Given the description of an element on the screen output the (x, y) to click on. 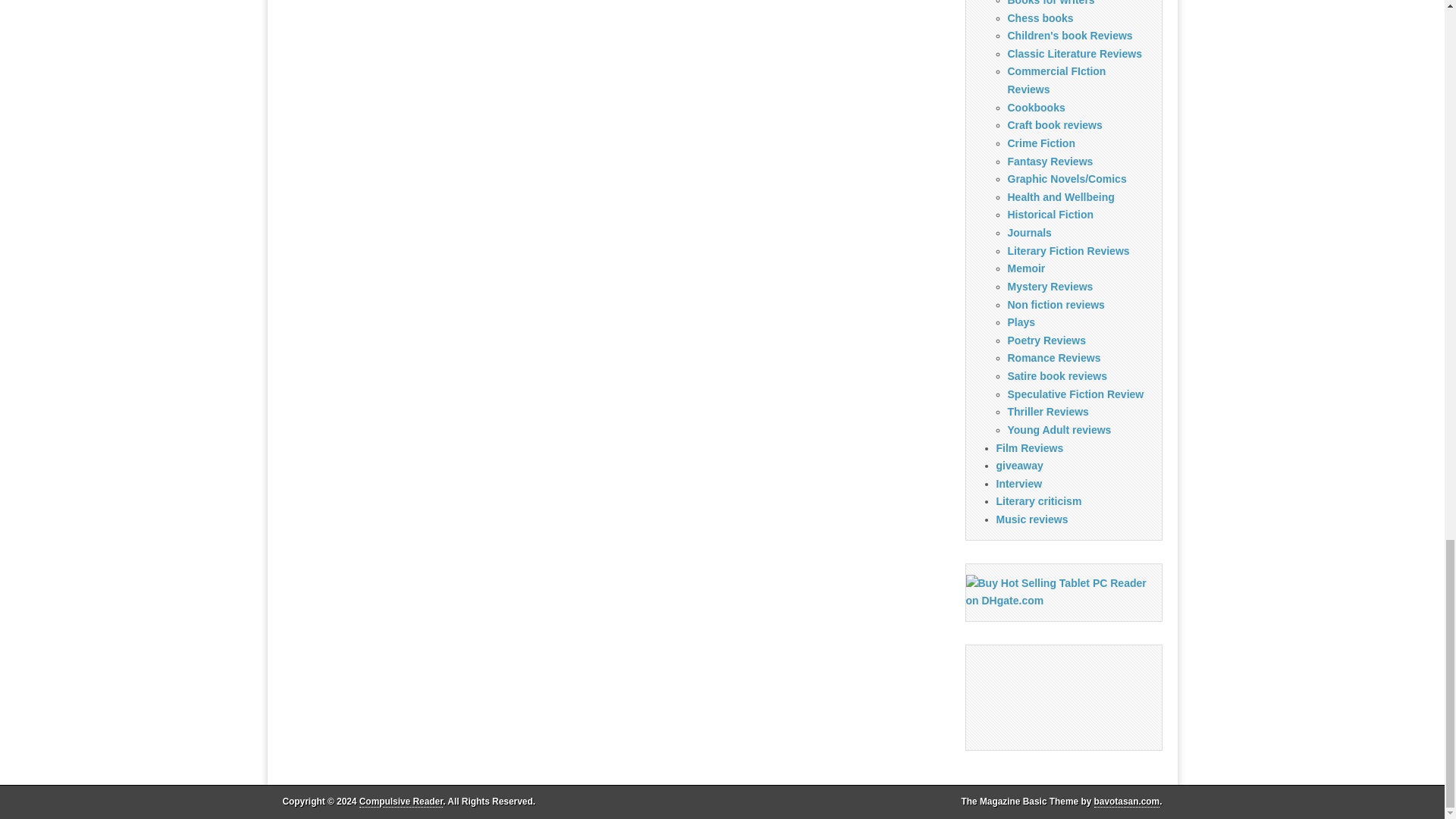
Children's book Reviews (1069, 35)
Chess books (1040, 18)
Books for writers (1050, 2)
Cookbooks (1035, 107)
Commercial FIction Reviews (1056, 80)
Classic Literature Reviews (1074, 53)
